Given the description of an element on the screen output the (x, y) to click on. 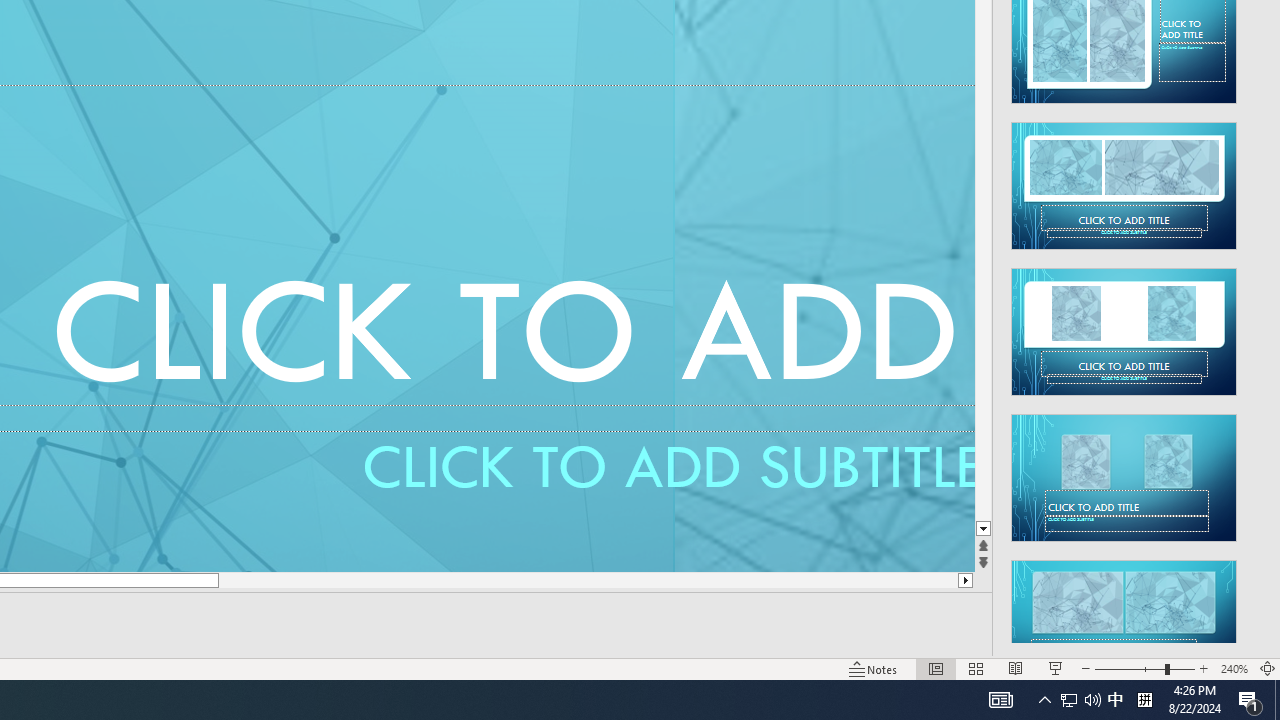
Zoom 240% (1234, 668)
Design Idea (1124, 618)
